Given the description of an element on the screen output the (x, y) to click on. 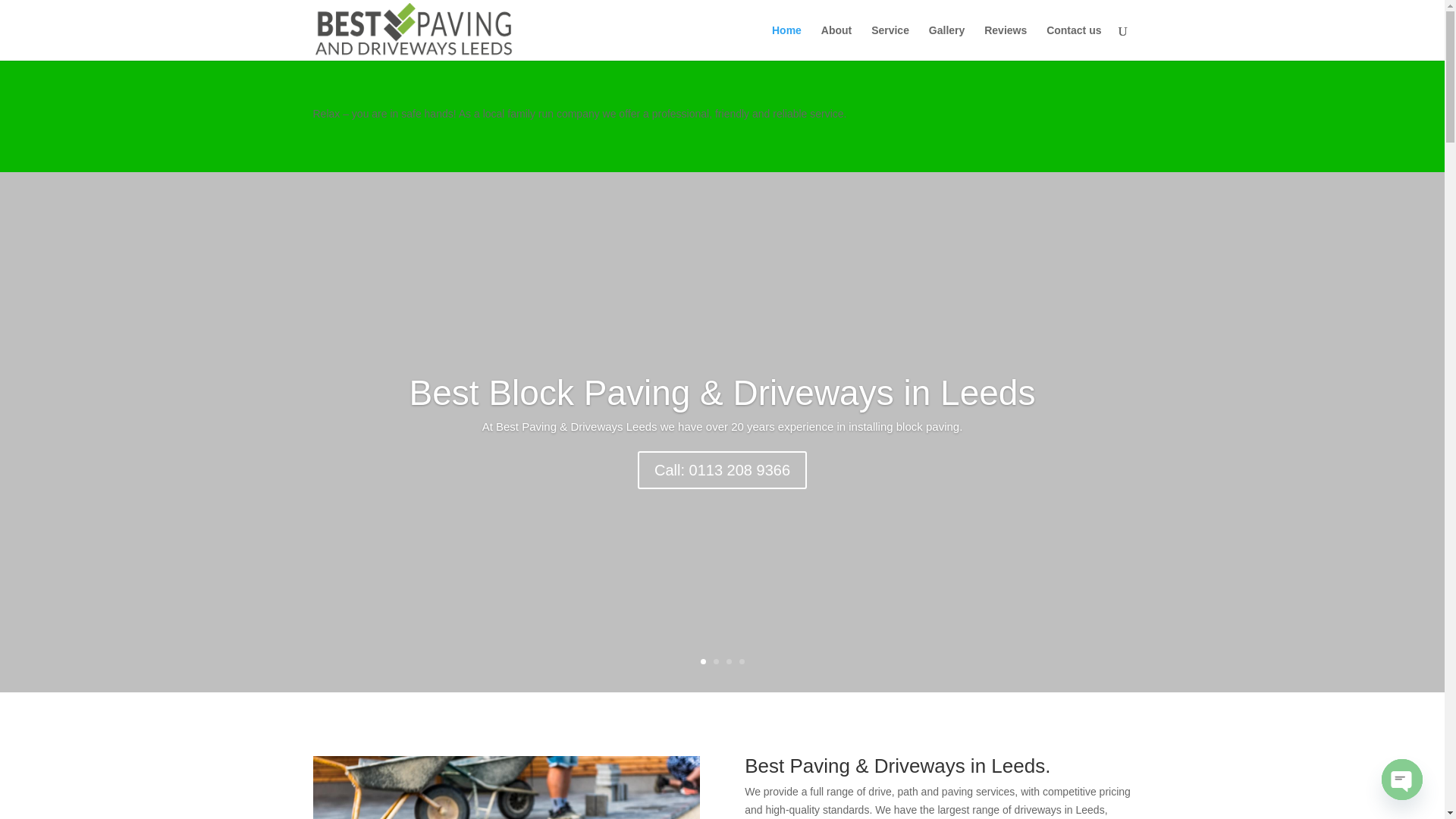
Gallery (945, 42)
Reviews (1005, 42)
Service (889, 42)
Contact us (1073, 42)
